Given the description of an element on the screen output the (x, y) to click on. 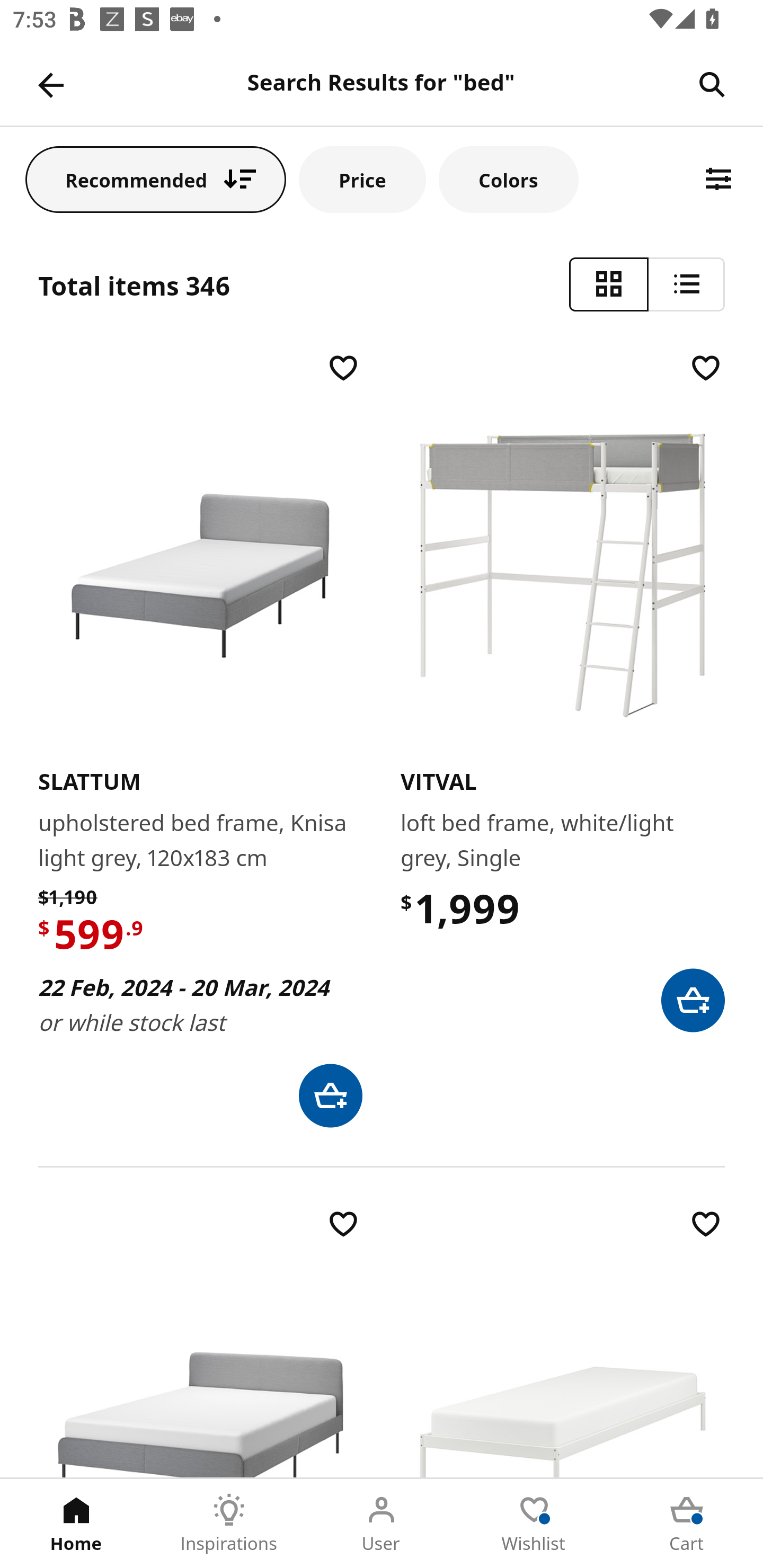
Recommended (155, 179)
Price (362, 179)
Colors (508, 179)
Home
Tab 1 of 5 (76, 1522)
Inspirations
Tab 2 of 5 (228, 1522)
User
Tab 3 of 5 (381, 1522)
Wishlist
Tab 4 of 5 (533, 1522)
Cart
Tab 5 of 5 (686, 1522)
